Given the description of an element on the screen output the (x, y) to click on. 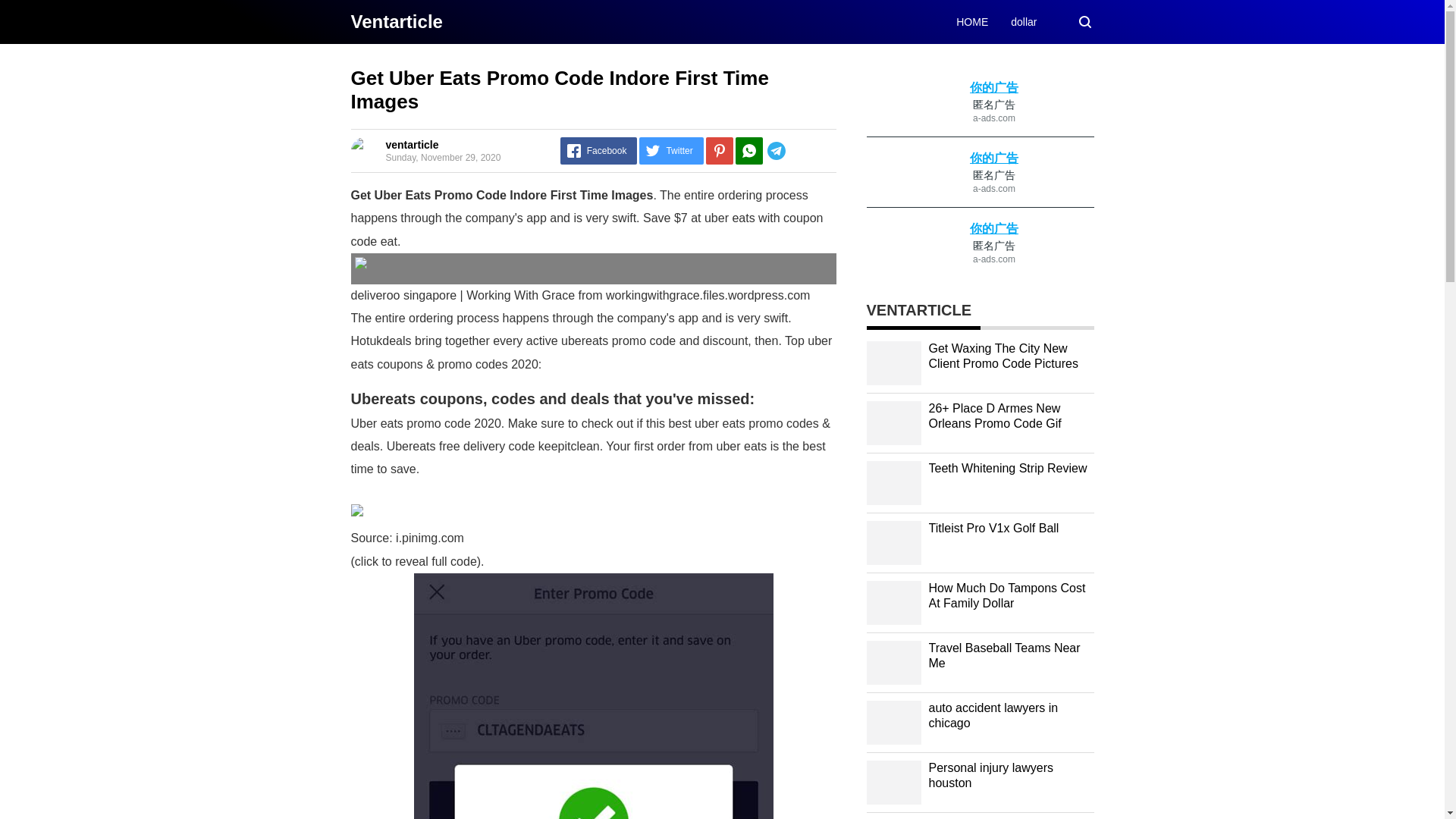
author profile (411, 144)
Twitter (671, 150)
auto accident lawyers in chicago (993, 715)
Teeth Whitening Strip Review (1007, 468)
Facebook (598, 150)
Share to Telegram (798, 150)
Share on Pinterest (719, 150)
Travel Baseball Teams Near Me (1004, 655)
dollar (1023, 21)
Ventarticle (396, 21)
